Given the description of an element on the screen output the (x, y) to click on. 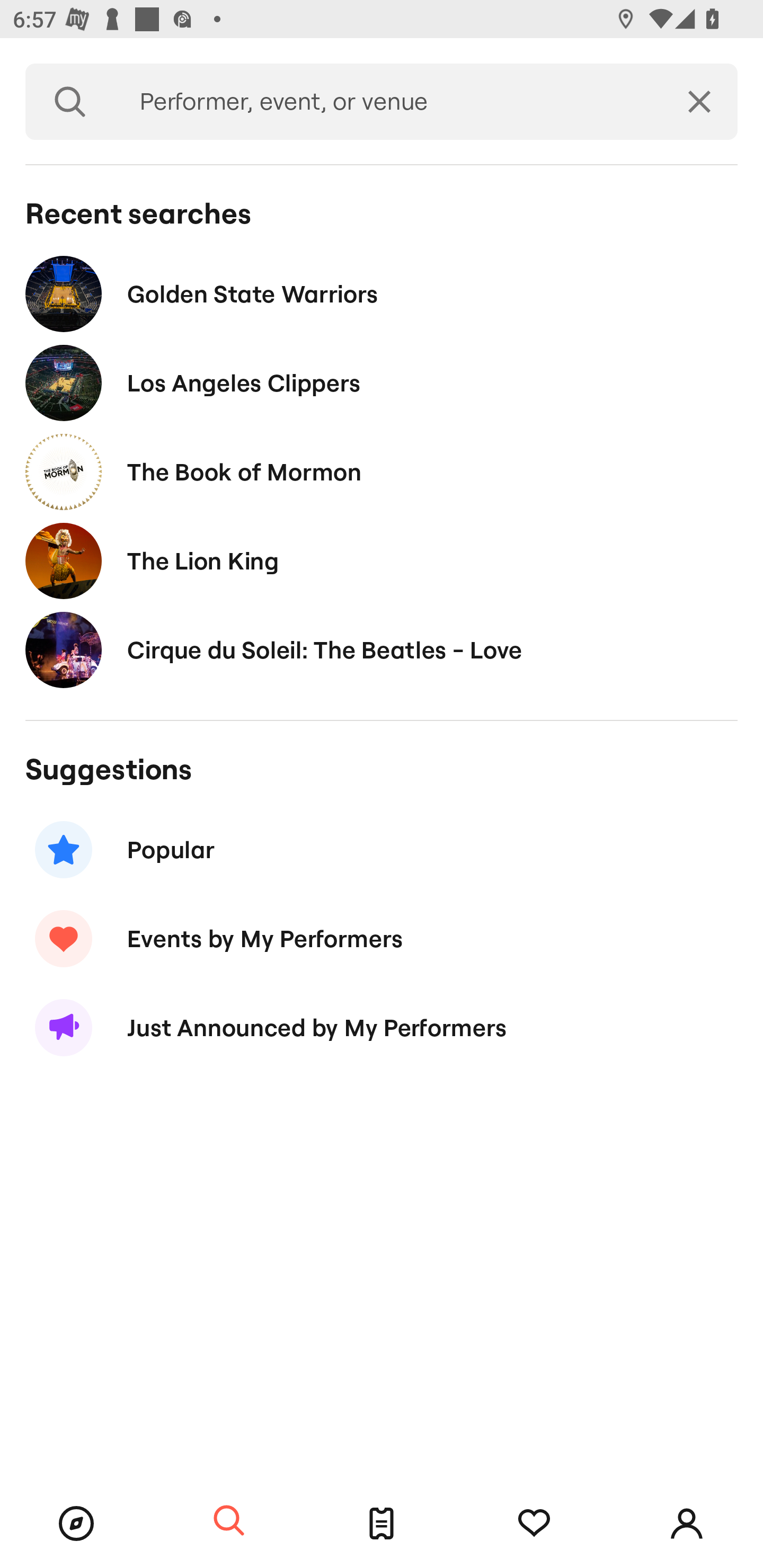
Search (69, 101)
Performer, event, or venue (387, 101)
Clear (699, 101)
Golden State Warriors (381, 293)
Los Angeles Clippers (381, 383)
The Book of Mormon (381, 471)
The Lion King (381, 560)
Cirque du Soleil: The Beatles - Love (381, 649)
Popular (381, 849)
Events by My Performers (381, 938)
Just Announced by My Performers (381, 1027)
Browse (76, 1523)
Search (228, 1521)
Tickets (381, 1523)
Tracking (533, 1523)
Account (686, 1523)
